Given the description of an element on the screen output the (x, y) to click on. 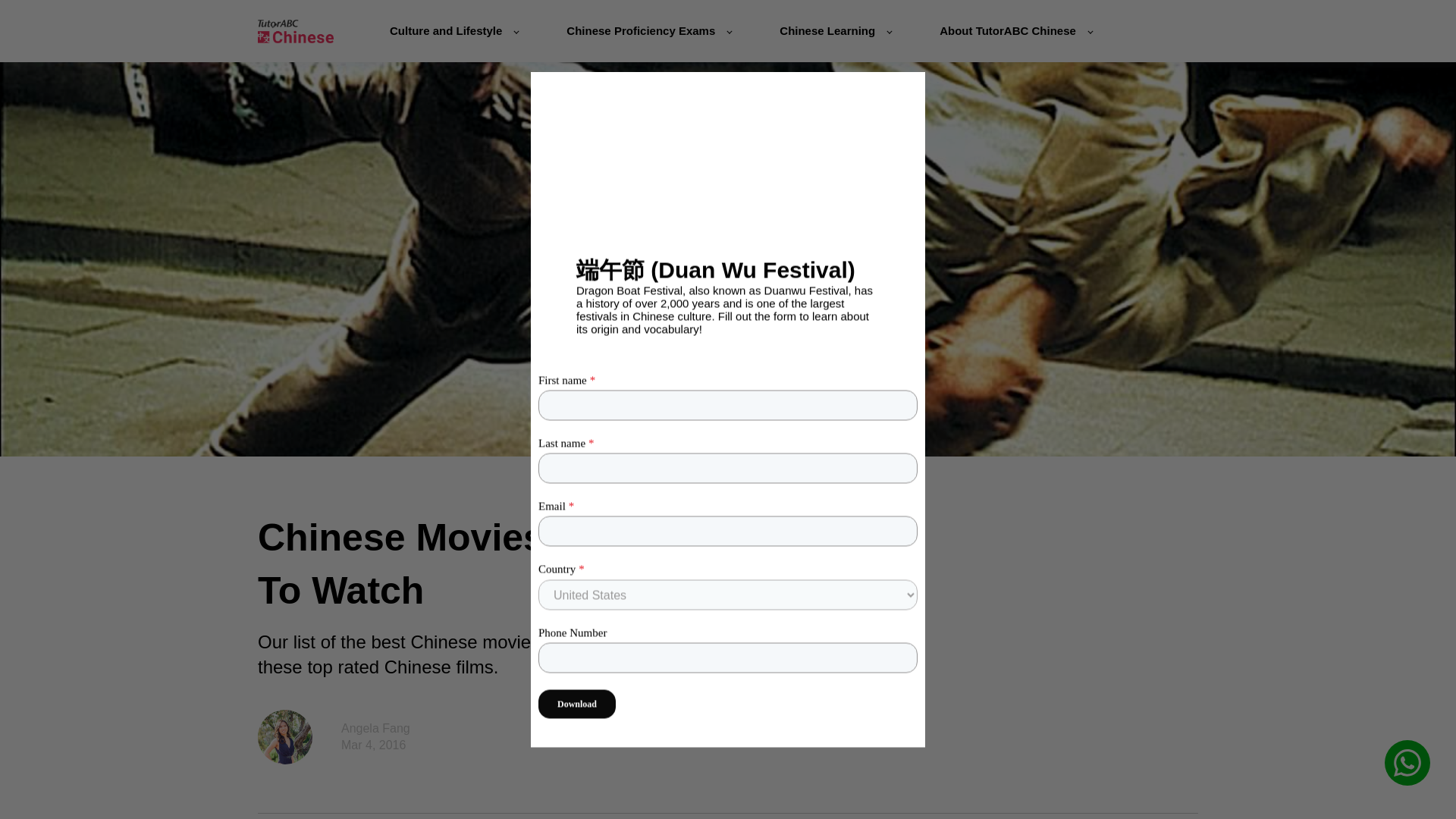
Chinese Learning (834, 30)
Contact us on WhatsApp (1406, 762)
Culture and Lifestyle (454, 30)
Angela Fang (375, 727)
Chinese Proficiency Exams (648, 30)
About TutorABC Chinese (1015, 30)
